Given the description of an element on the screen output the (x, y) to click on. 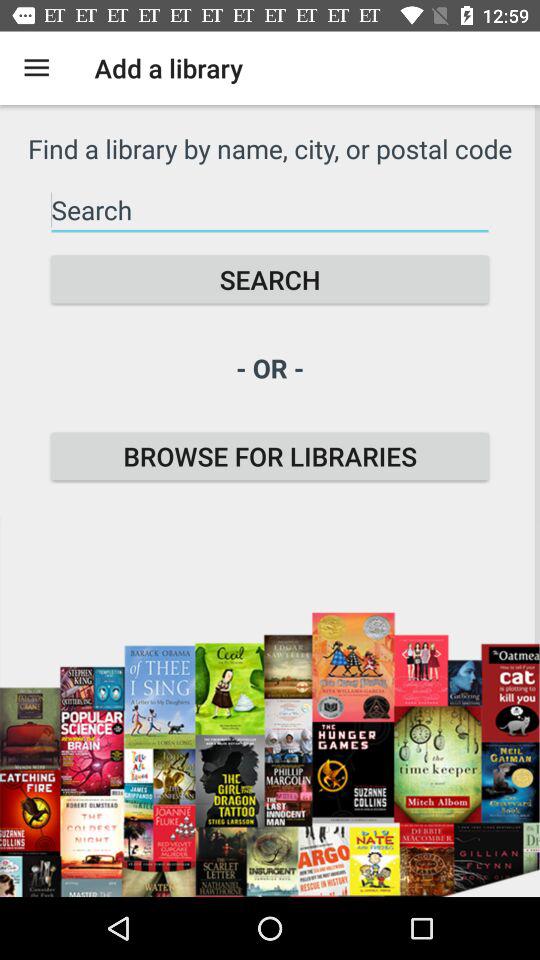
open item next to the add a library icon (36, 68)
